Given the description of an element on the screen output the (x, y) to click on. 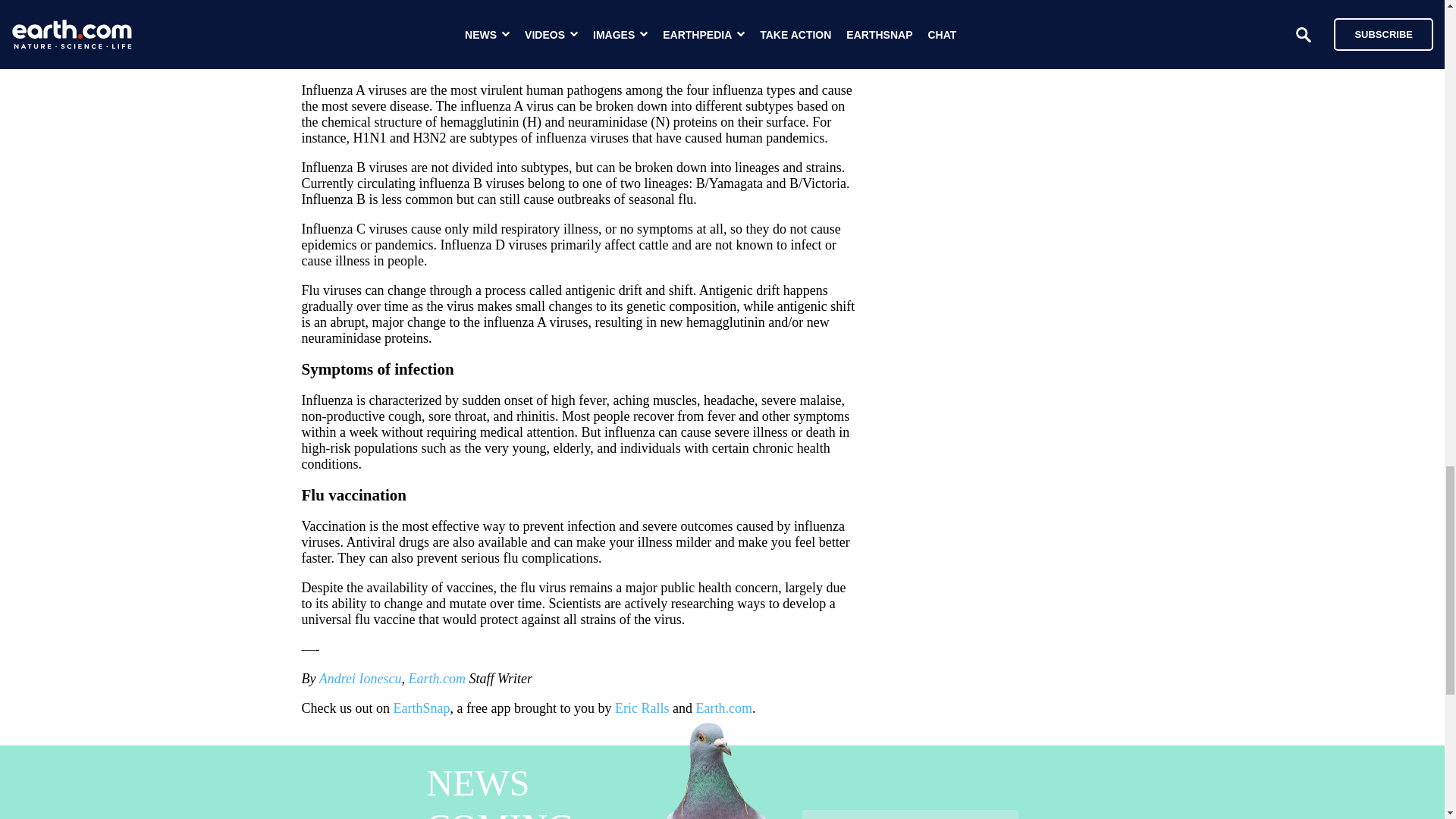
Eric Ralls (641, 708)
EarthSnap (421, 708)
Andrei Ionescu (359, 678)
Earth.com (723, 708)
Earth.com (436, 678)
